Given the description of an element on the screen output the (x, y) to click on. 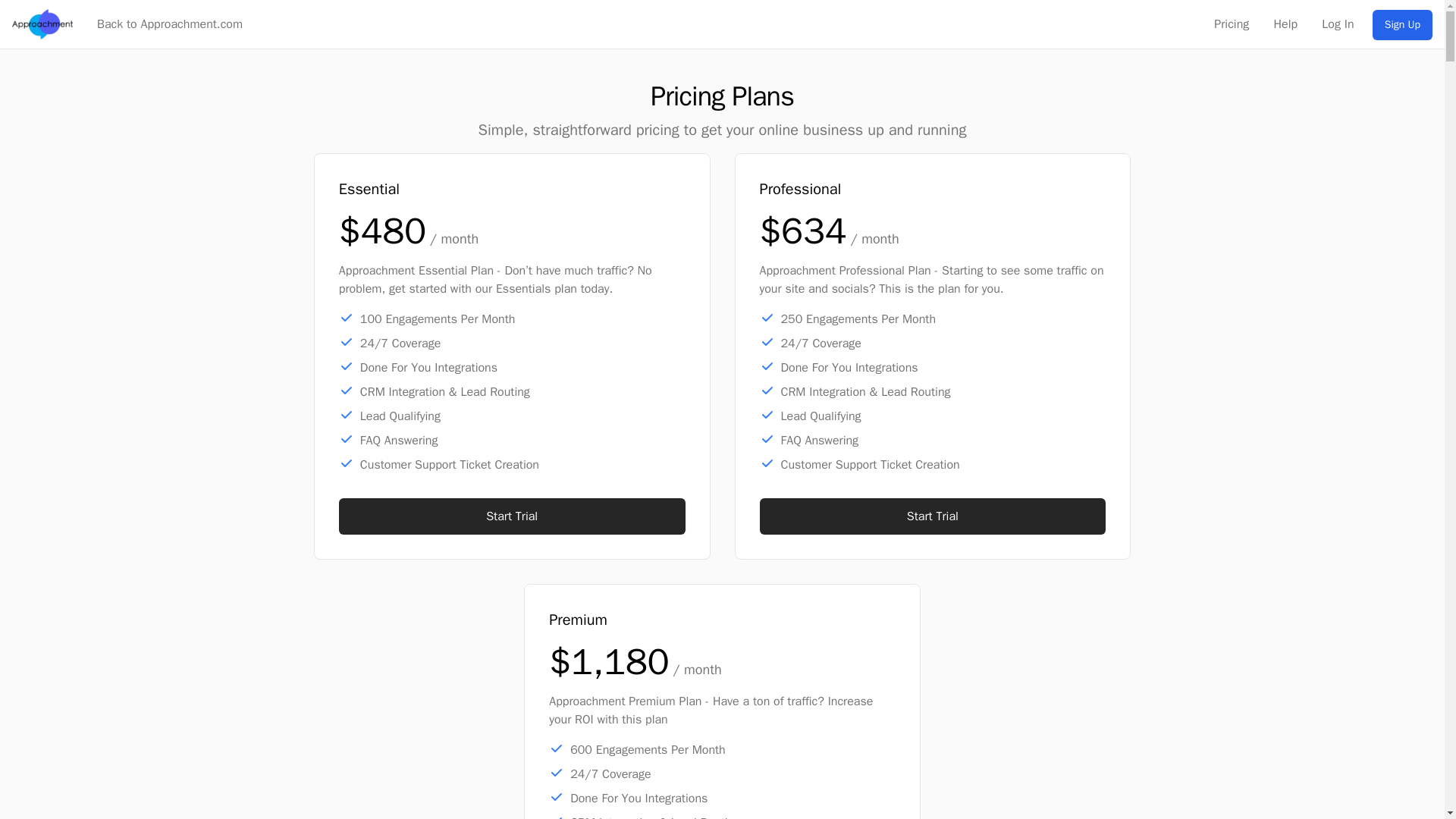
Log In (1337, 23)
Sign Up (1402, 24)
Pricing (1231, 23)
Back to Approachment.com (169, 23)
Start Trial (933, 515)
Start Trial (512, 515)
Help (1286, 23)
Approachment (41, 24)
